Given the description of an element on the screen output the (x, y) to click on. 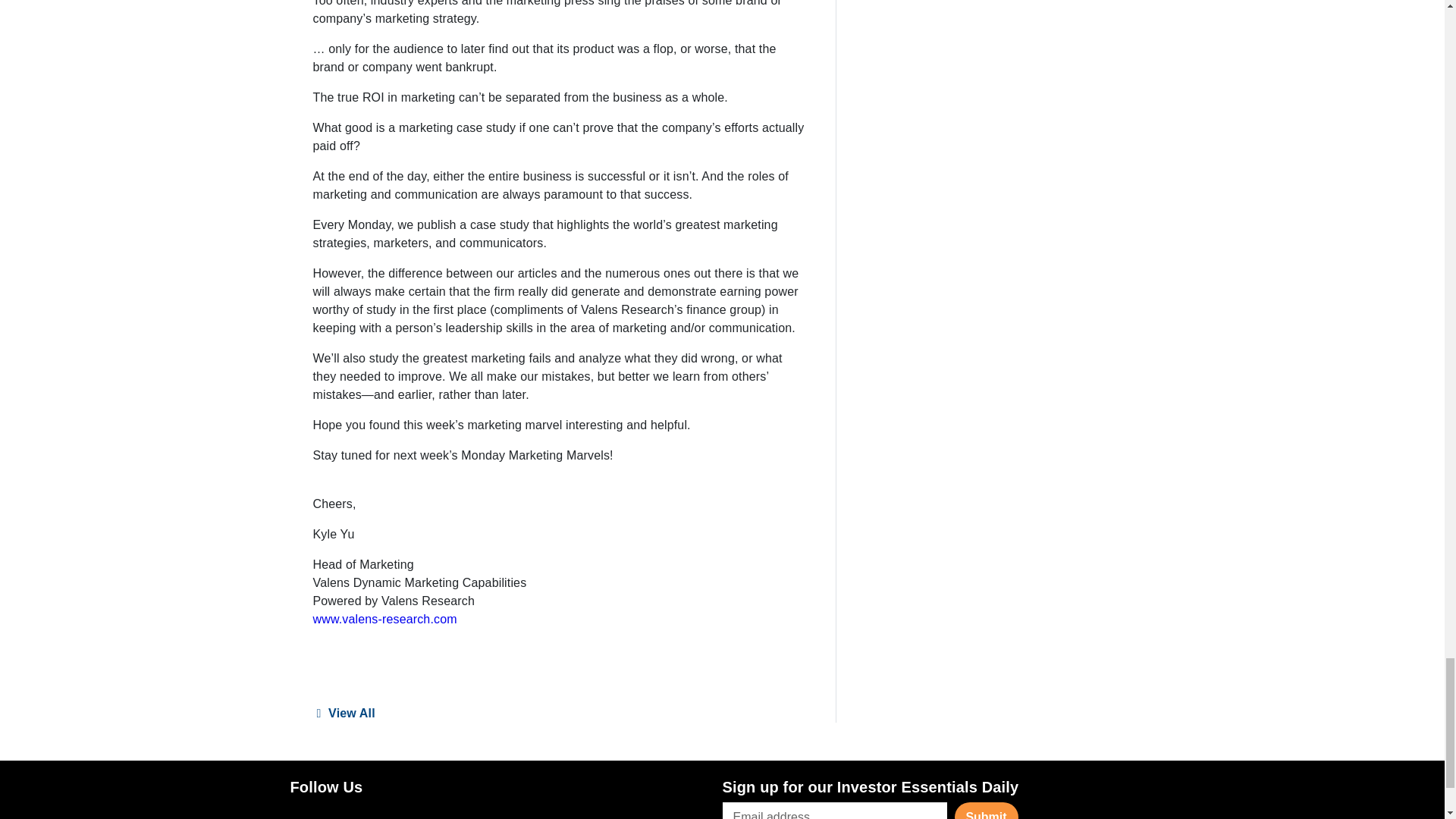
www.valens-research.com (385, 618)
